Given the description of an element on the screen output the (x, y) to click on. 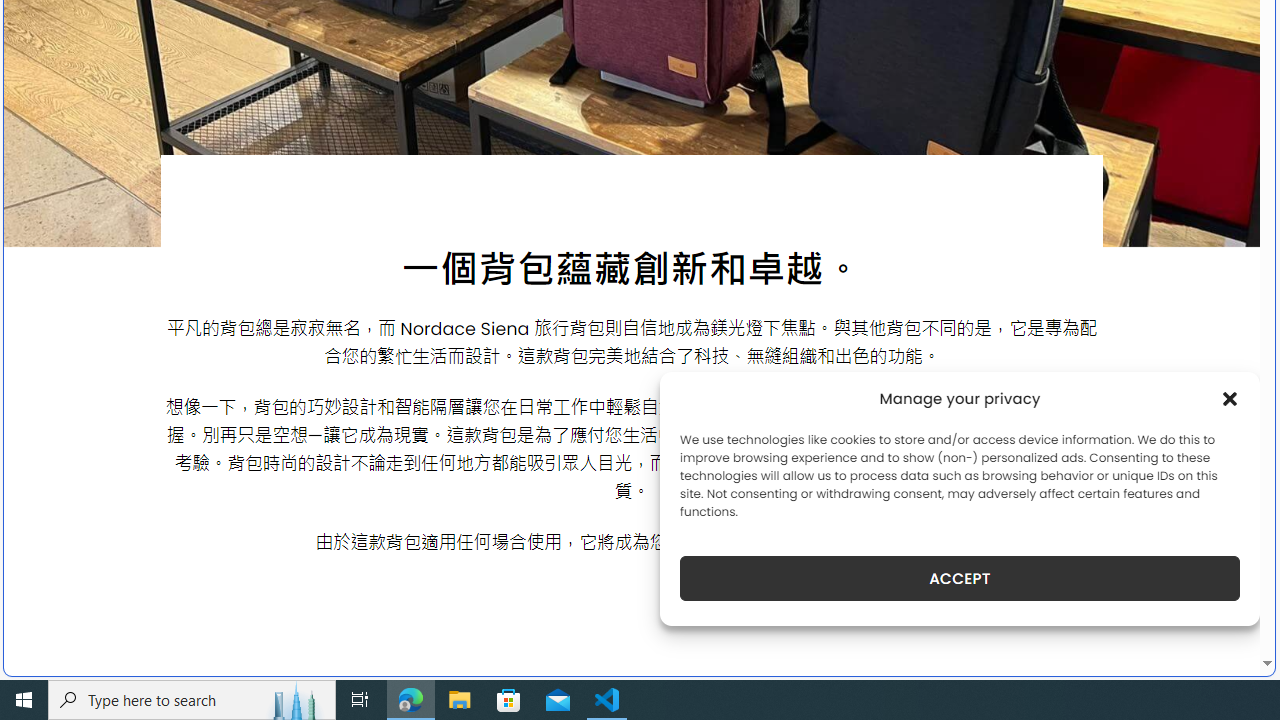
ACCEPT (959, 578)
Class: cmplz-close (1229, 398)
